Given the description of an element on the screen output the (x, y) to click on. 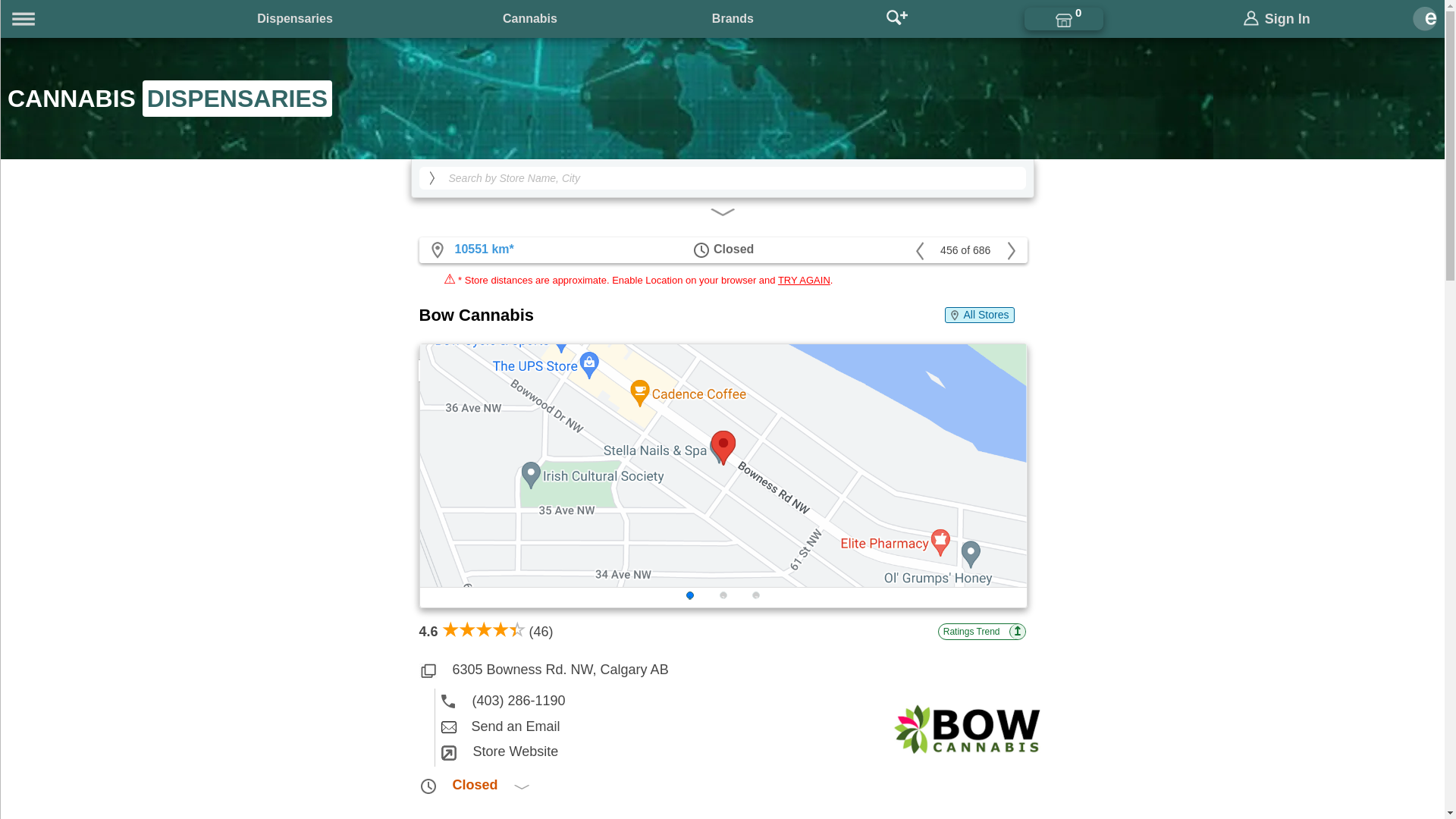
View Ratings (981, 631)
Search Stores (896, 18)
View on Google Maps (470, 248)
View Store Hours (722, 786)
Visit Bow Cannabis Online (966, 764)
Send an Email (730, 726)
6305 Bowness Rd. NW, Calgary AB (722, 669)
Next Page (1010, 249)
View Ratings (486, 630)
Update Saved Stores (1064, 18)
Add to My Stores (438, 370)
Store Website (730, 751)
Previous Page (919, 249)
ADD (438, 370)
Filter Menu (722, 209)
